Given the description of an element on the screen output the (x, y) to click on. 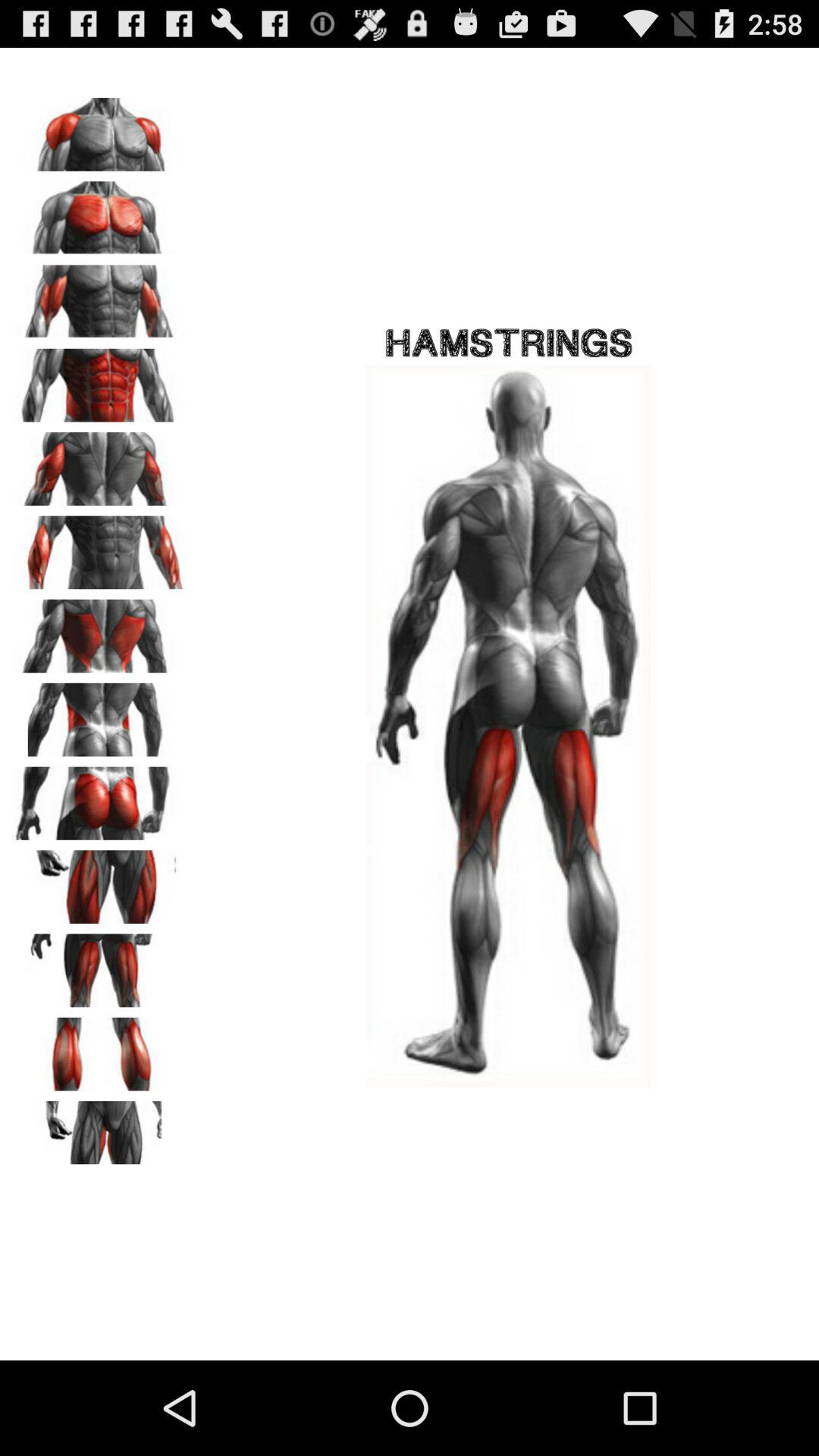
see image (99, 463)
